Given the description of an element on the screen output the (x, y) to click on. 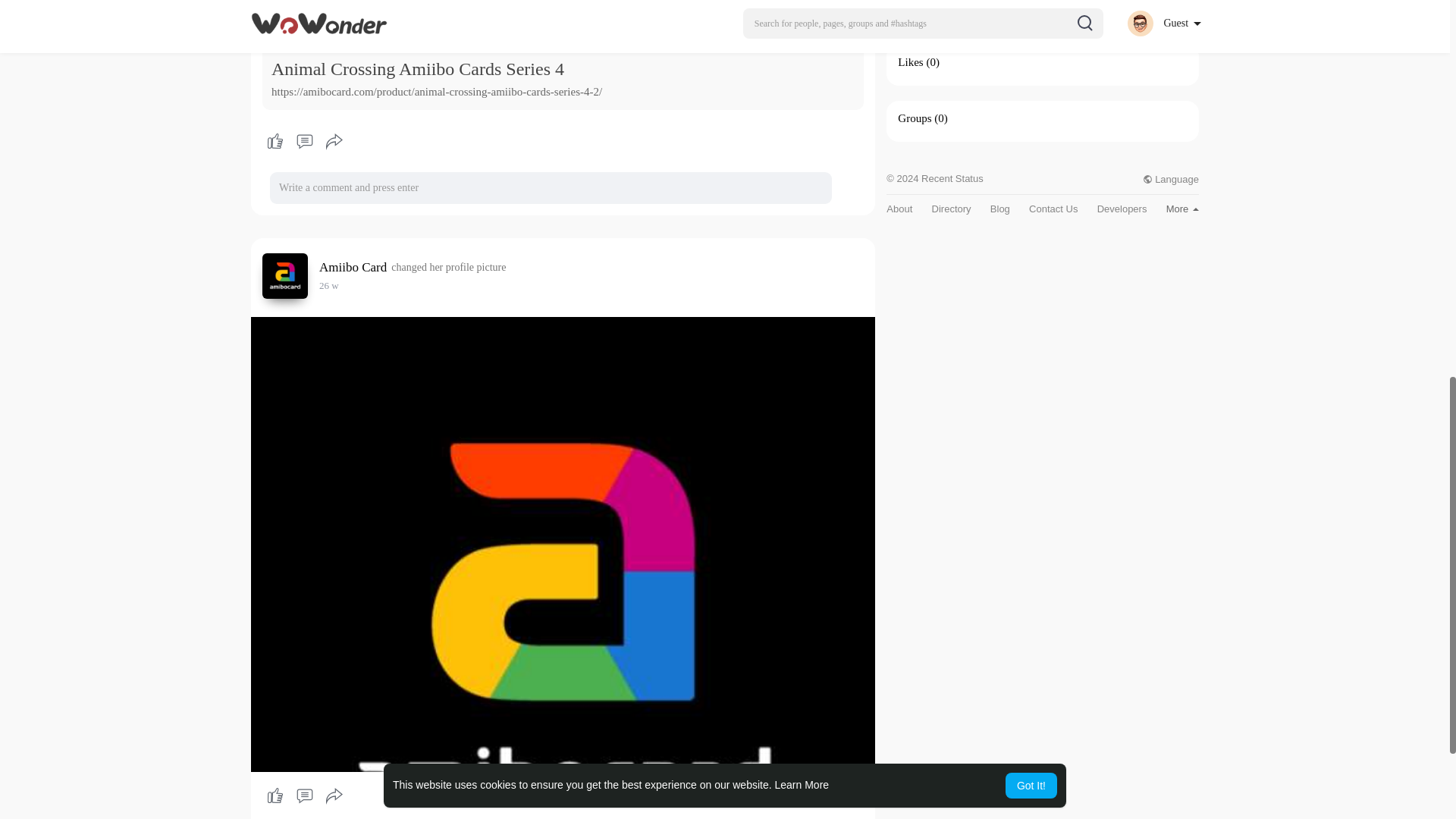
Friends (914, 6)
About (899, 208)
26 w (328, 285)
Groups (914, 118)
Language (1170, 179)
Share (334, 795)
26 w (328, 285)
Developers (1122, 208)
Contact Us (1053, 208)
Share (334, 141)
Directory (951, 208)
Amiibo Card (354, 267)
Comments (304, 795)
Comments (304, 141)
More (1182, 208)
